Given the description of an element on the screen output the (x, y) to click on. 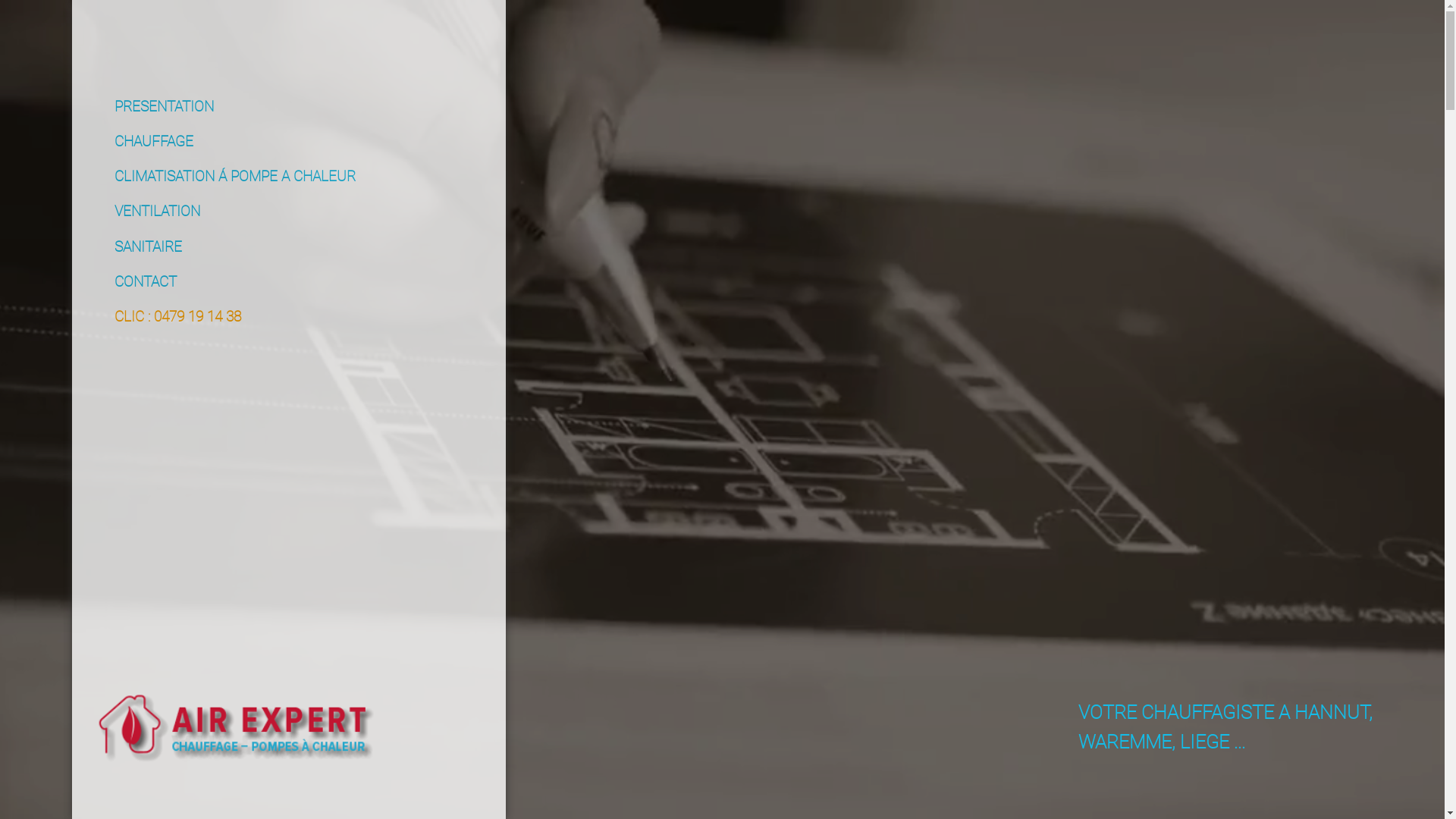
VENTILATION Element type: text (147, 208)
SANITAIRE Element type: text (138, 243)
CHAUFFAGE Element type: text (143, 138)
CONTACT Element type: text (135, 279)
PRESENTATION Element type: text (153, 104)
CLIC : 0479 19 14 38 Element type: text (167, 314)
